Given the description of an element on the screen output the (x, y) to click on. 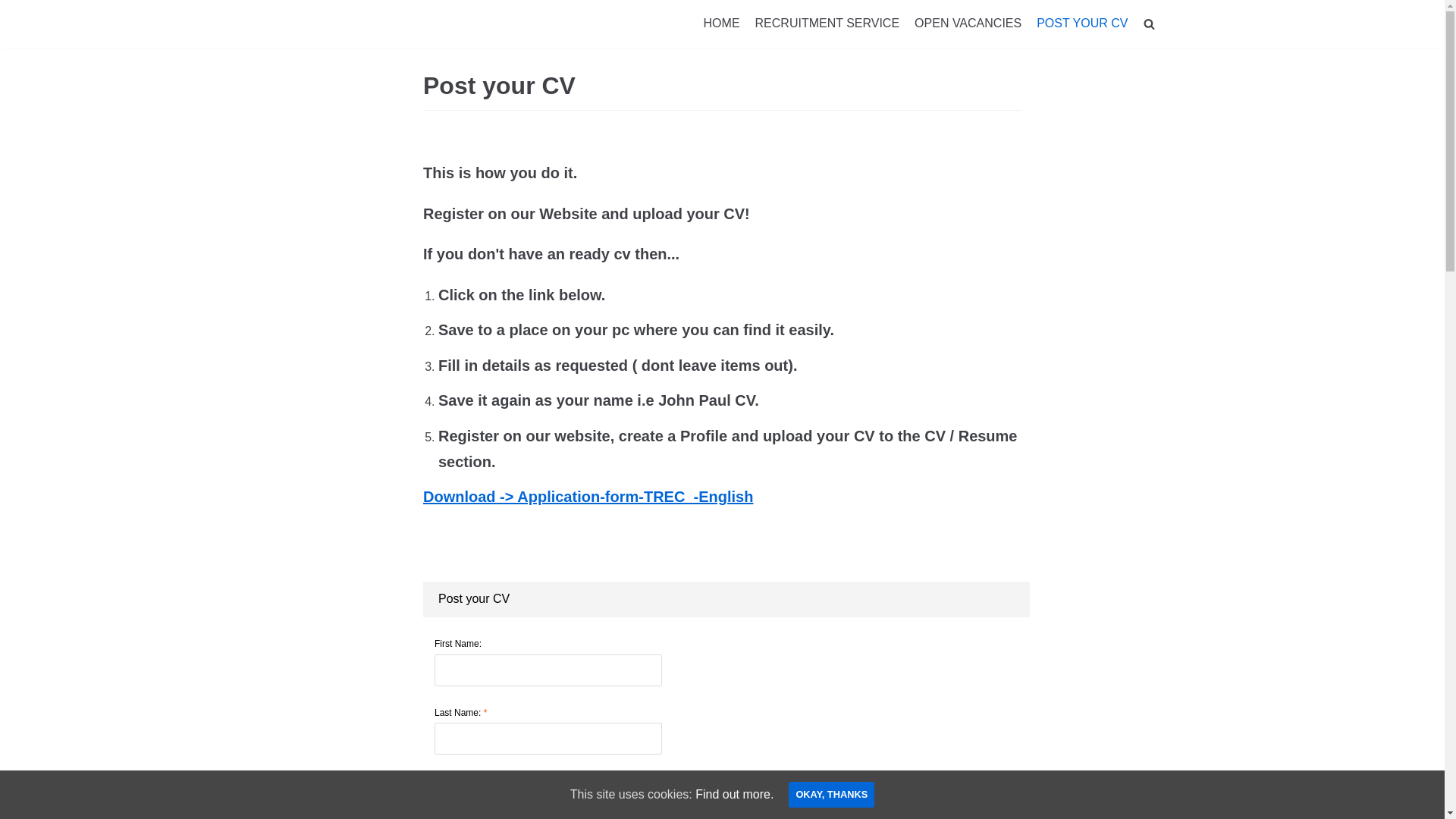
POST YOUR CV Element type: text (1081, 23)
HOME Element type: text (721, 23)
Skip to content Element type: text (15, 7)
Search Element type: text (1122, 57)
Find out more. Element type: text (734, 793)
Download -> Application-form-TREC_-English Element type: text (588, 496)
RECRUITMENT SERVICE Element type: text (827, 23)
OPEN VACANCIES Element type: text (967, 23)
OKAY, THANKS Element type: text (831, 794)
